Given the description of an element on the screen output the (x, y) to click on. 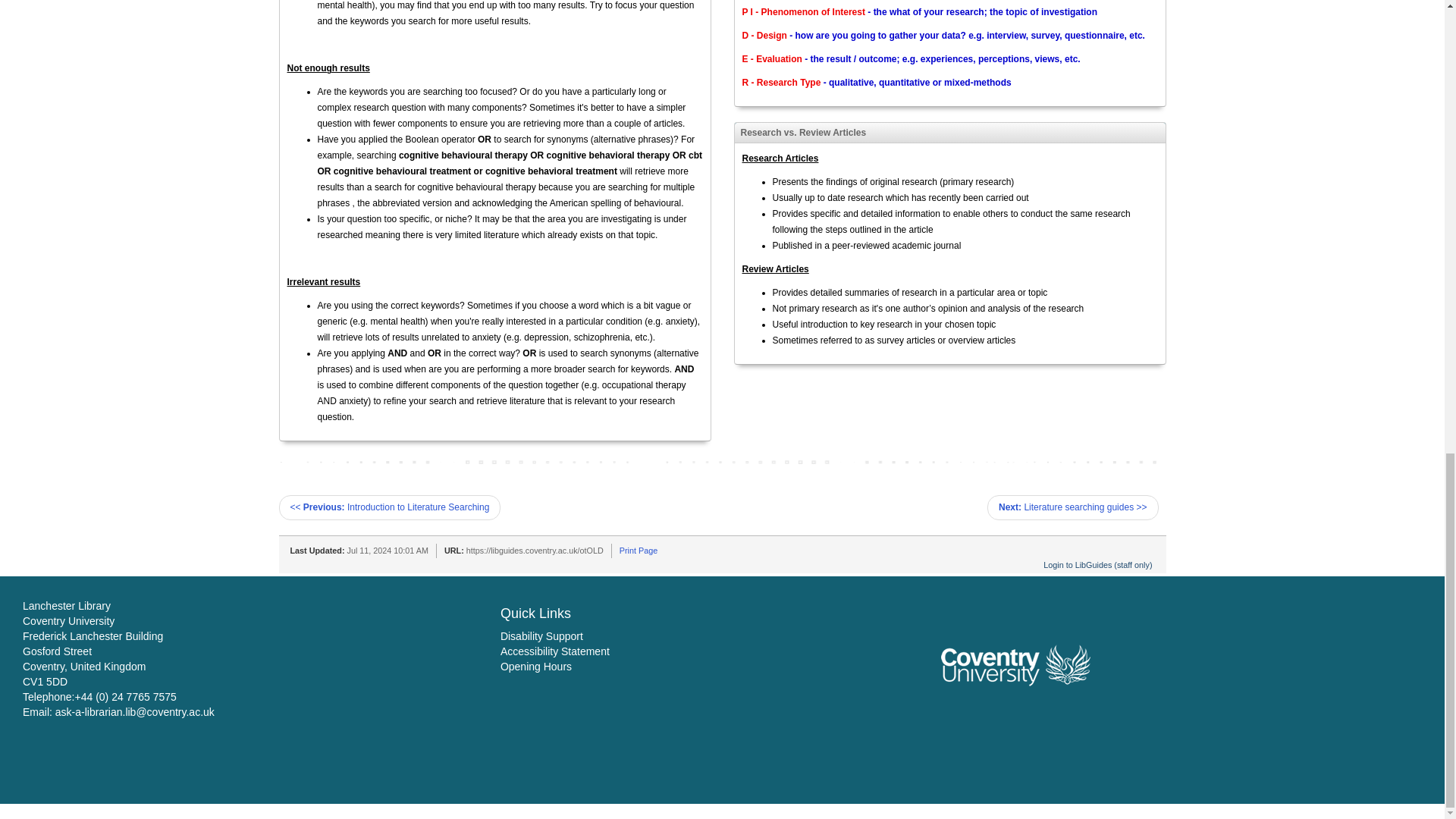
Occupational (340, 583)
Print Page (639, 550)
Therapy (387, 583)
